Given the description of an element on the screen output the (x, y) to click on. 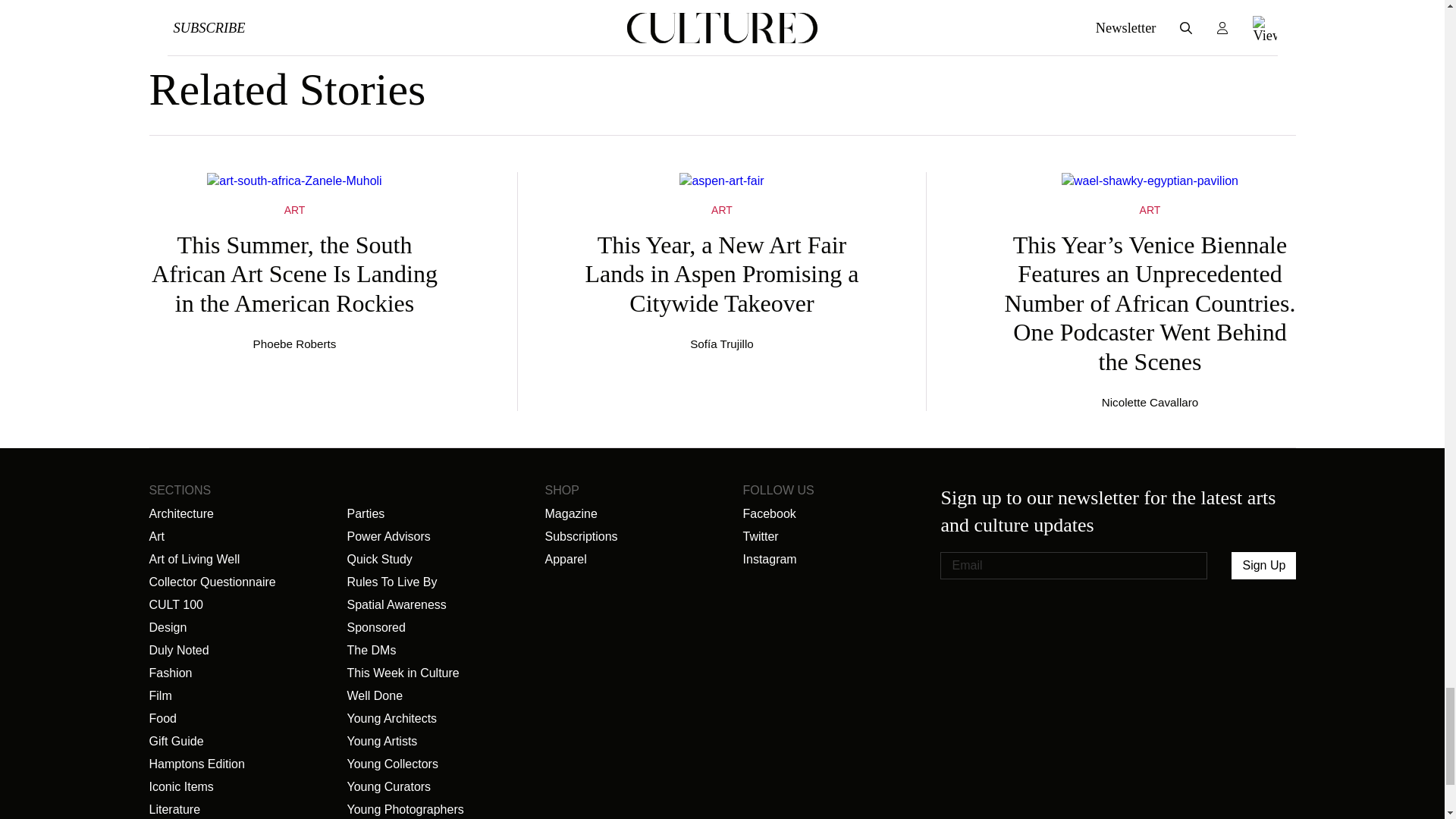
Sign Up (1263, 565)
